Given the description of an element on the screen output the (x, y) to click on. 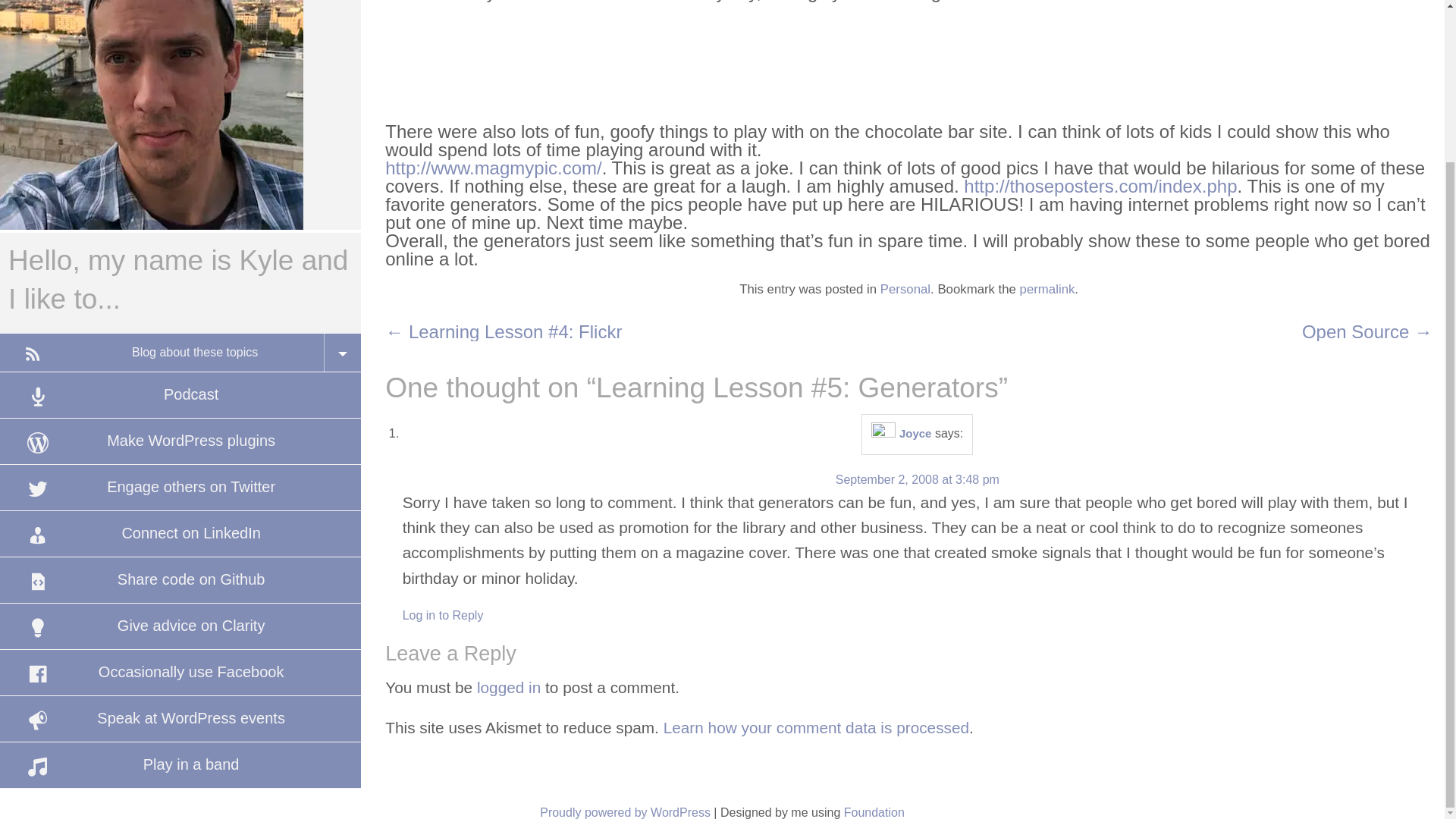
Make WordPress plugins (180, 441)
Speak at WordPress events (180, 719)
Podcast (180, 394)
Blog about these topics (180, 352)
Engage others on Twitter (180, 487)
Connect on LinkedIn (180, 533)
Share code on Github (180, 579)
Occasionally use Facebook (180, 672)
Play in a band (180, 764)
Give advice on Clarity (180, 626)
